Given the description of an element on the screen output the (x, y) to click on. 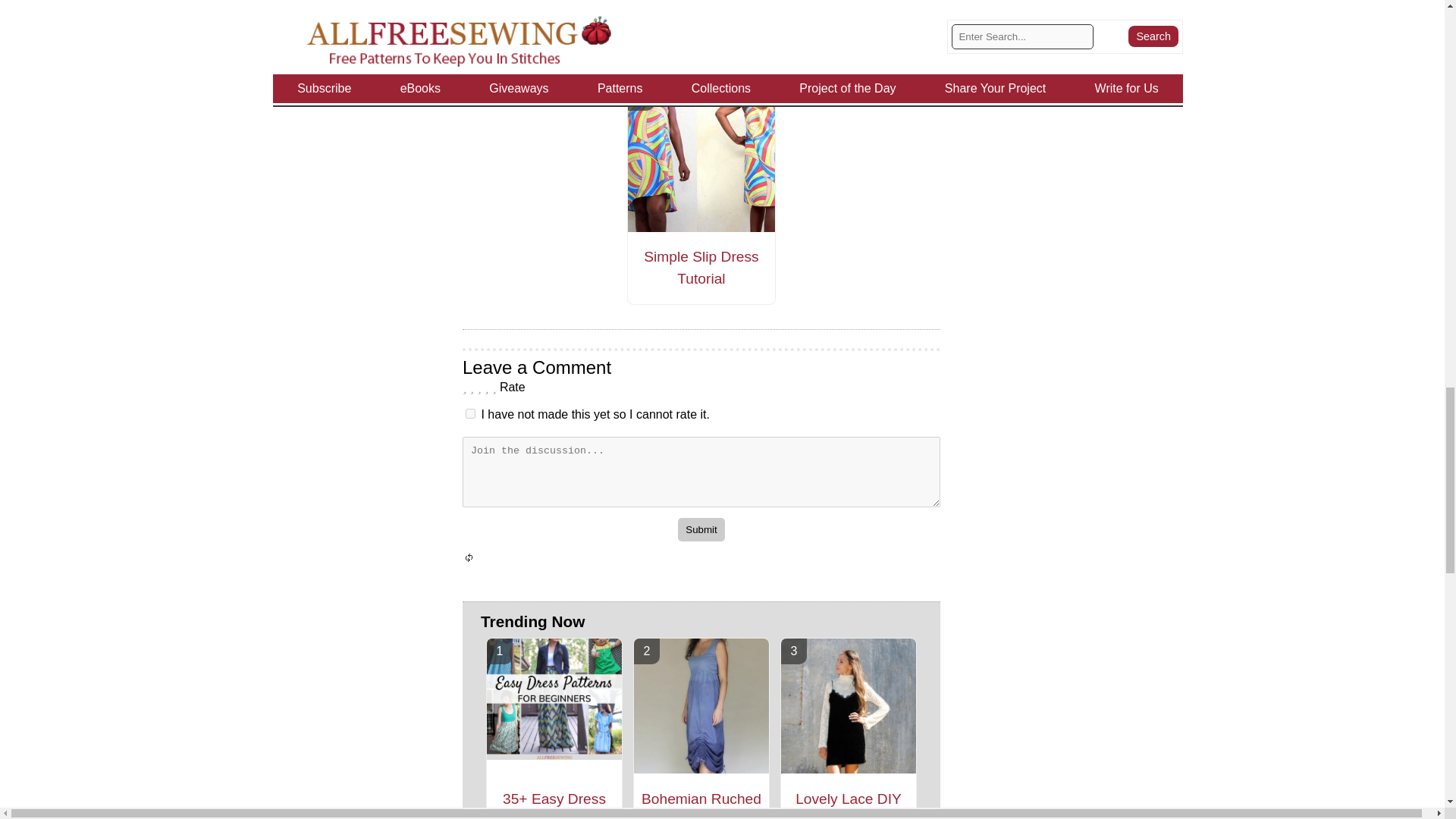
1 (470, 413)
Submit (700, 529)
